Given the description of an element on the screen output the (x, y) to click on. 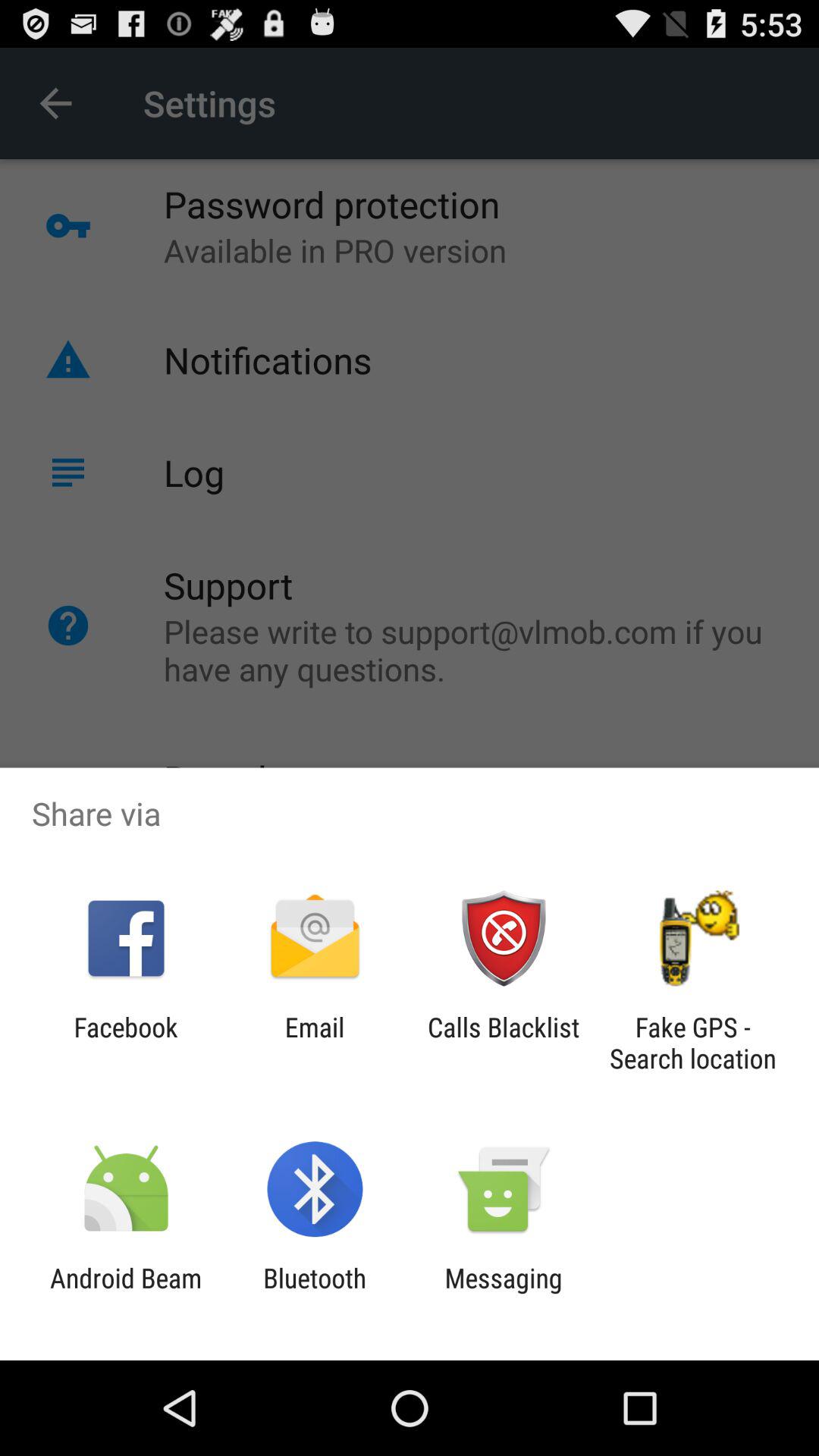
choose the icon to the right of android beam (314, 1293)
